Given the description of an element on the screen output the (x, y) to click on. 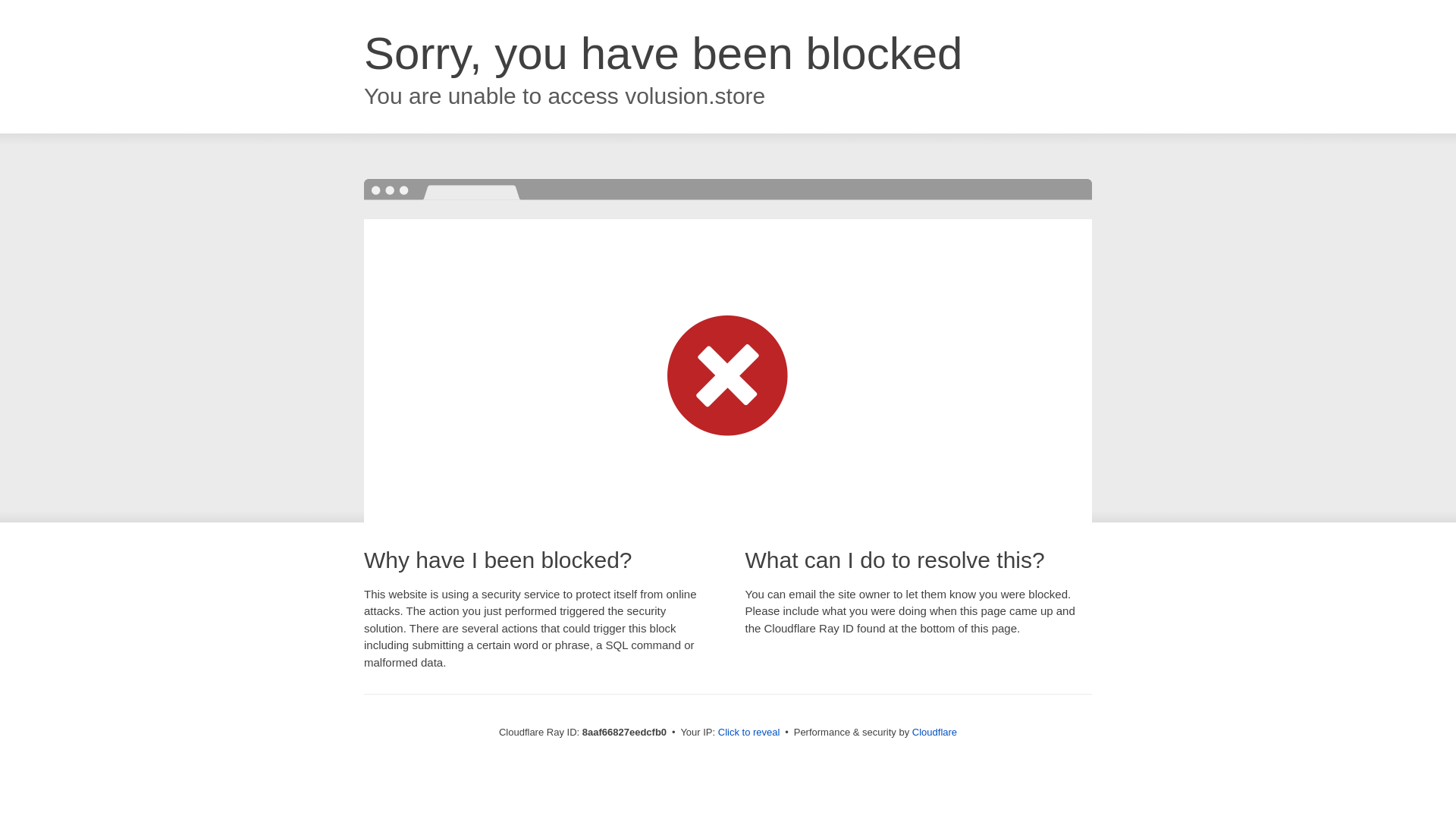
Cloudflare (934, 731)
Click to reveal (748, 732)
